Given the description of an element on the screen output the (x, y) to click on. 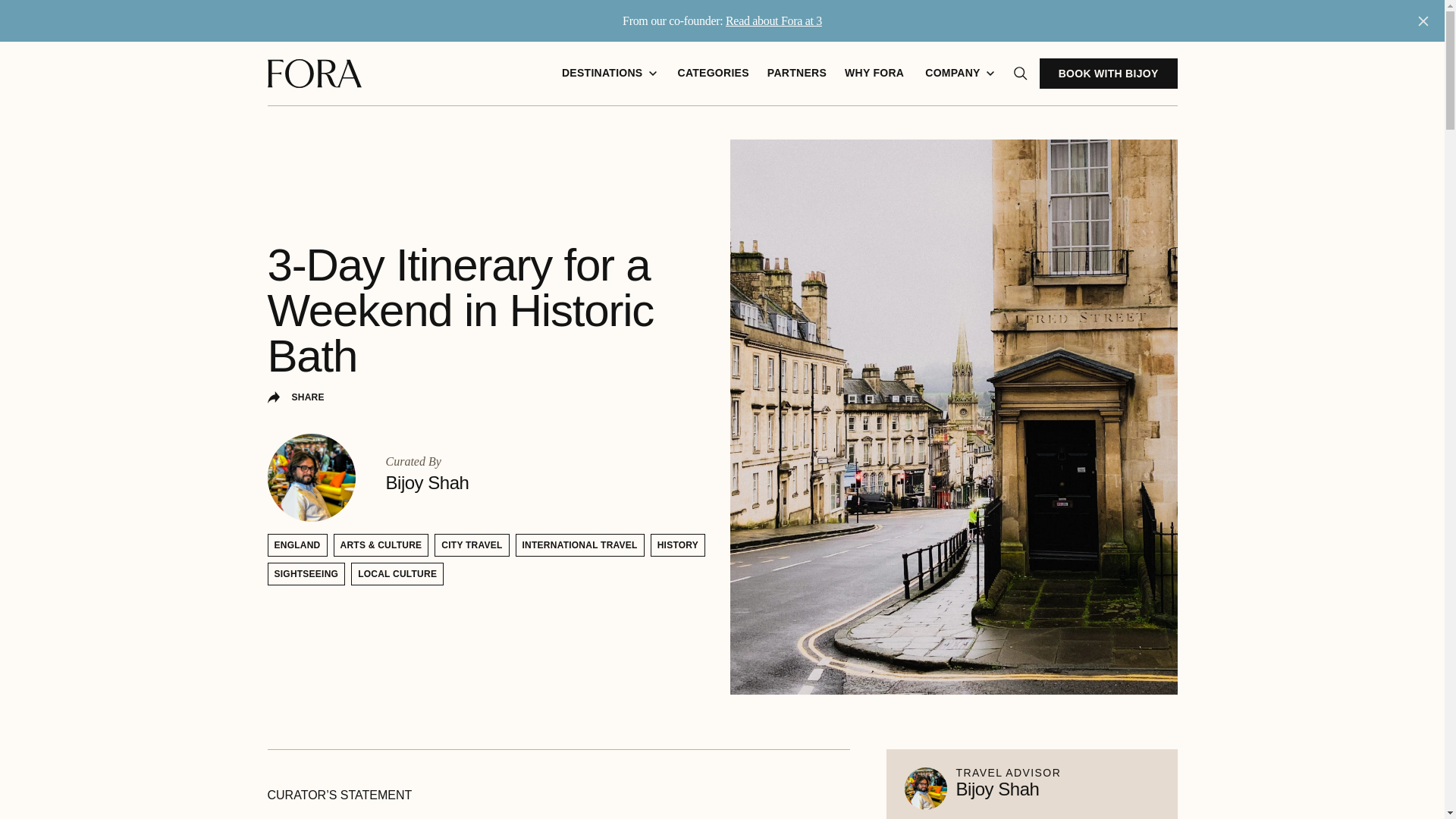
CATEGORIES (713, 73)
Read about Fora at 3 (773, 20)
PARTNERS (796, 73)
COMPANY (959, 73)
WHY FORA (873, 73)
DESTINATIONS (609, 73)
BOOK WITH BIJOY (1108, 73)
